Given the description of an element on the screen output the (x, y) to click on. 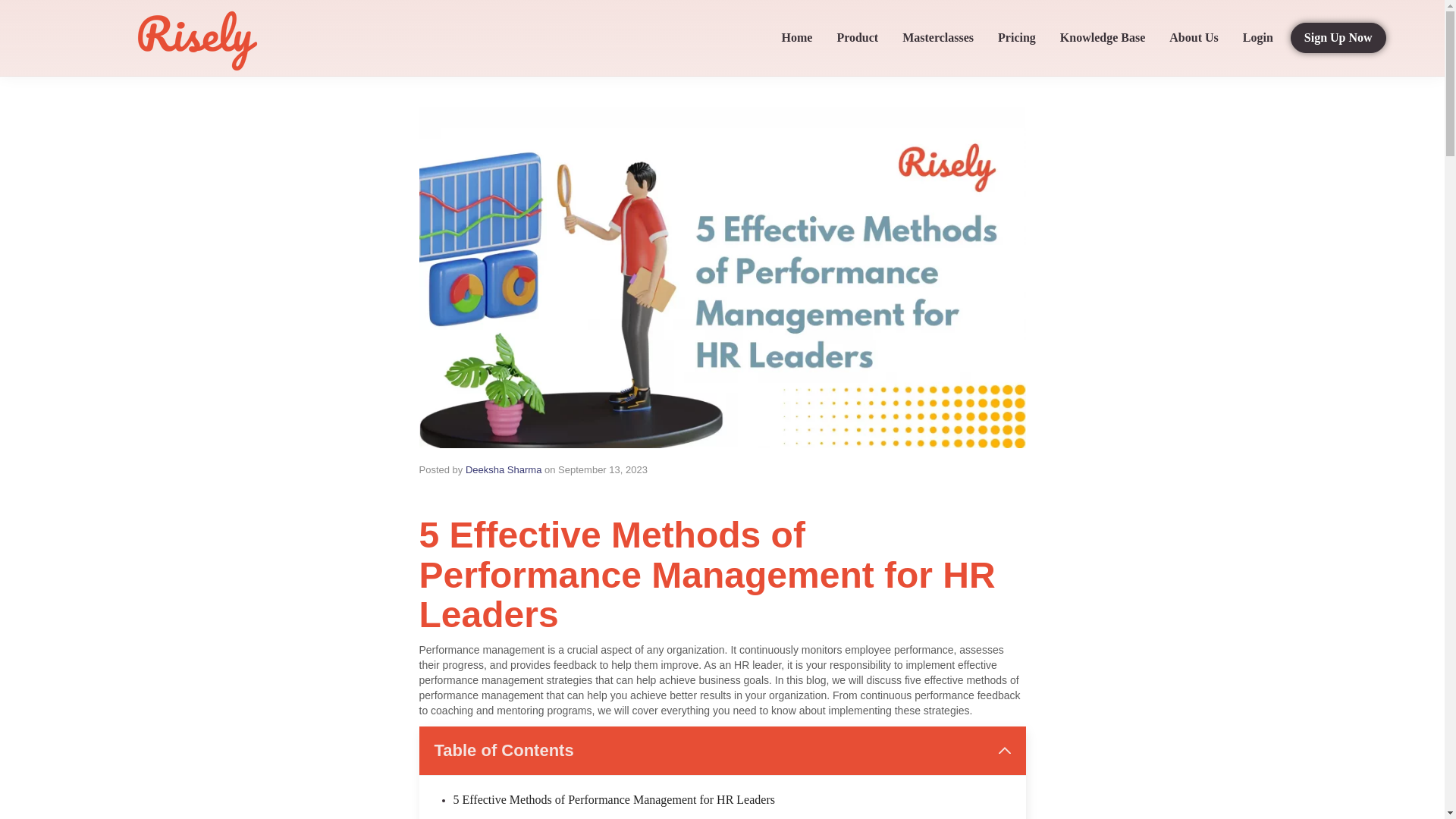
Knowledge Base (1101, 37)
Product (857, 37)
Home (797, 37)
About Us (1192, 37)
Pricing (1016, 37)
5 Effective Methods of Performance Management for HR Leaders (613, 799)
Deeksha Sharma (503, 469)
Masterclasses (938, 37)
Posts by Deeksha Sharma (503, 469)
